Given the description of an element on the screen output the (x, y) to click on. 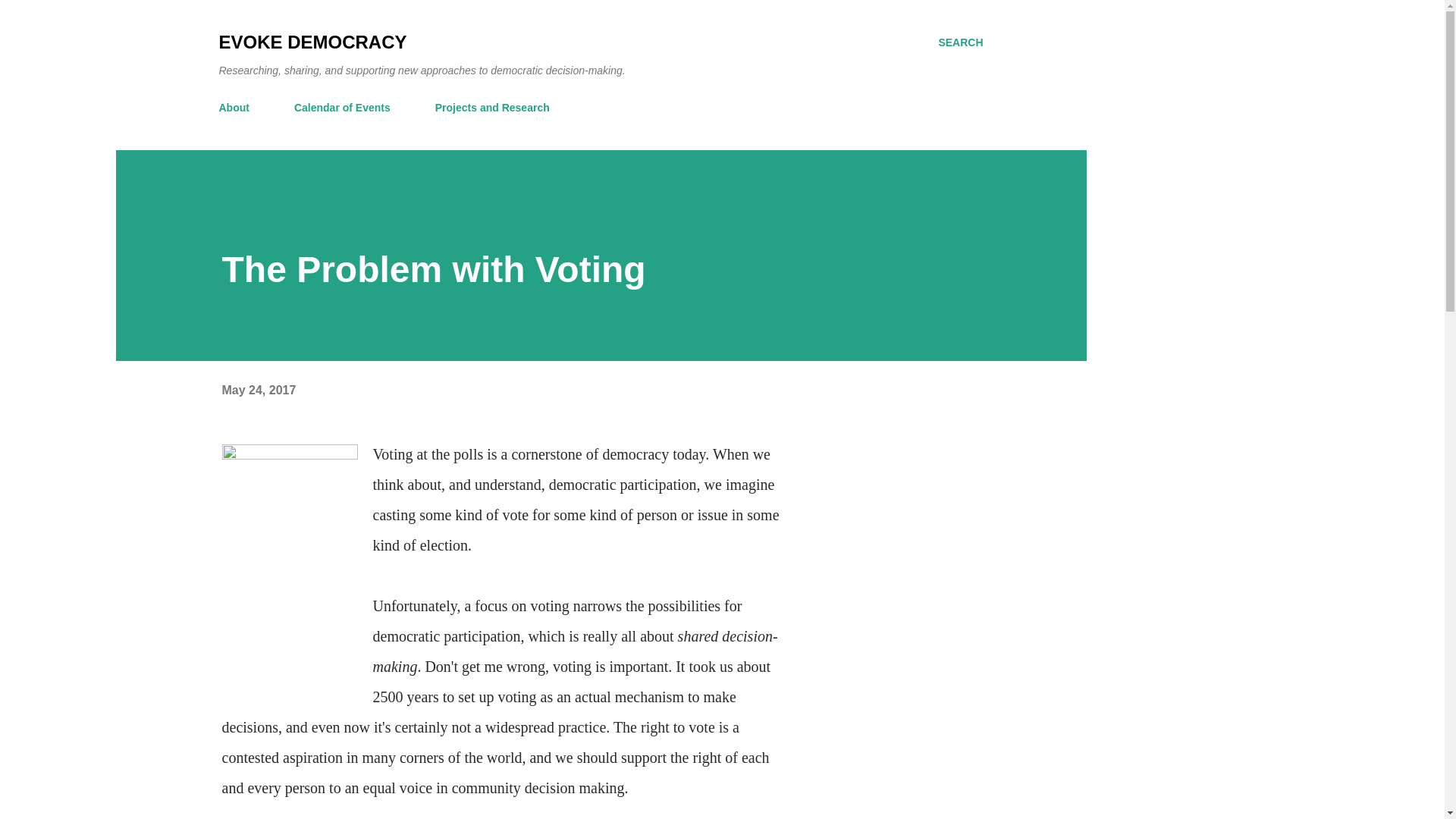
permanent link (258, 390)
May 24, 2017 (258, 390)
SEARCH (959, 42)
EVOKE DEMOCRACY (312, 41)
Projects and Research (492, 107)
About (237, 107)
Calendar of Events (341, 107)
